Given the description of an element on the screen output the (x, y) to click on. 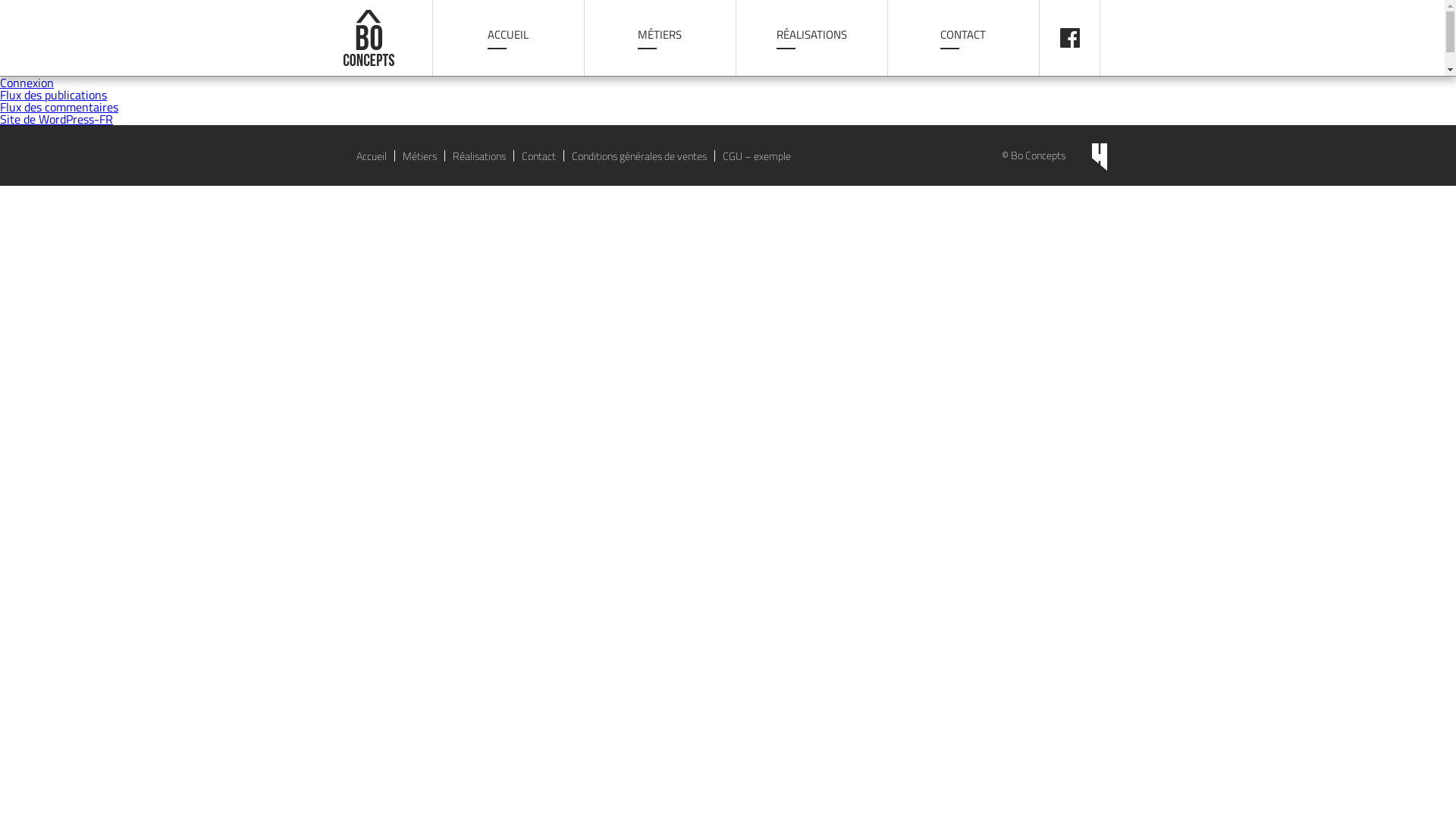
Website by Hungry Minds Element type: text (1099, 156)
Site de WordPress-FR Element type: text (56, 118)
Flux des publications Element type: text (53, 94)
Accueil Element type: text (371, 155)
Connexion Element type: text (26, 82)
CONTACT Element type: text (962, 37)
Flux des commentaires Element type: text (59, 106)
Bo Concepts Element type: text (386, 37)
PAGE FACEBOOK Element type: text (1068, 37)
Contact Element type: text (538, 155)
Rechercher Element type: text (169, 7)
ACCUEIL Element type: text (507, 37)
